Given the description of an element on the screen output the (x, y) to click on. 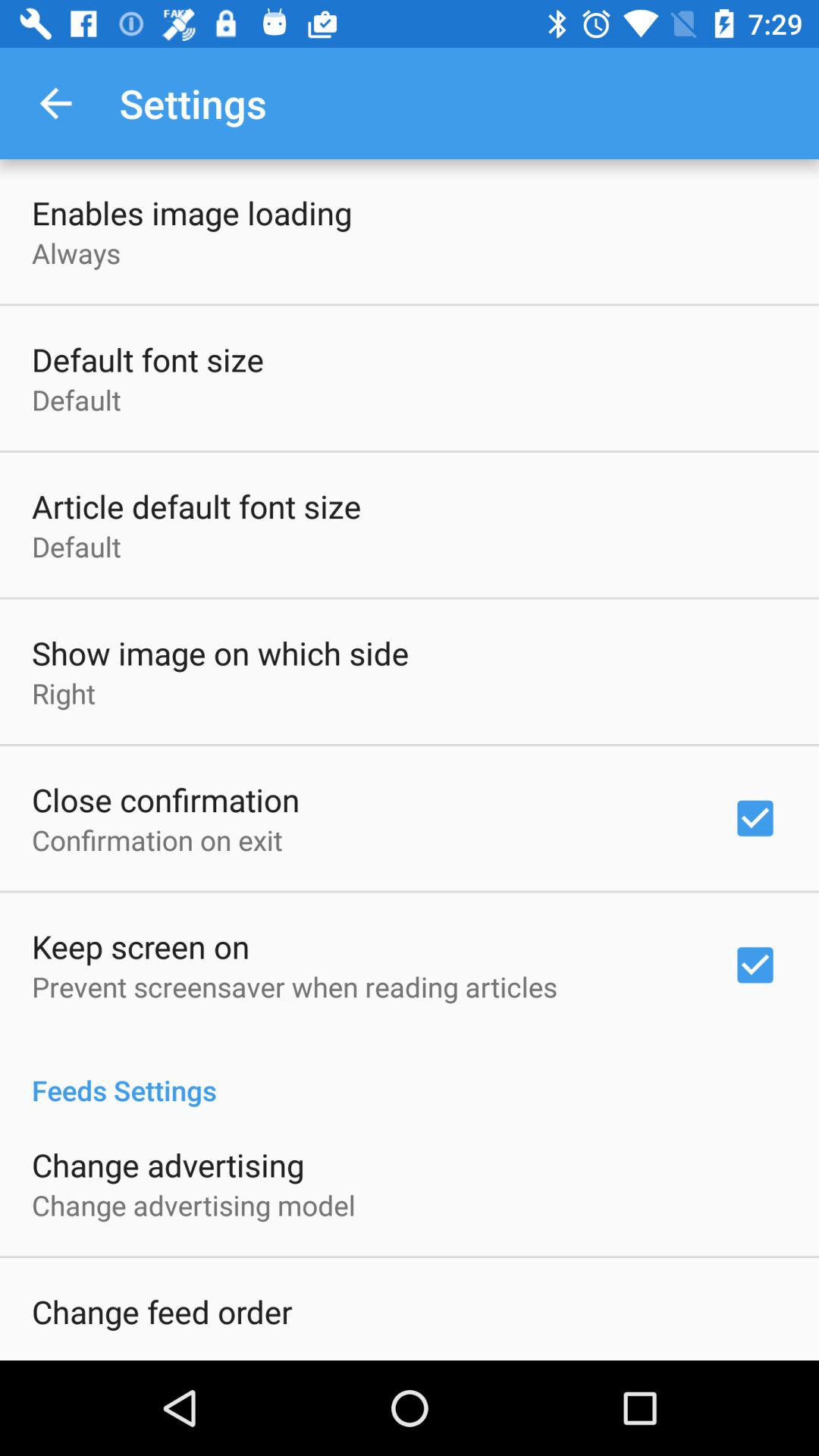
turn on the item above the keep screen on item (156, 839)
